Given the description of an element on the screen output the (x, y) to click on. 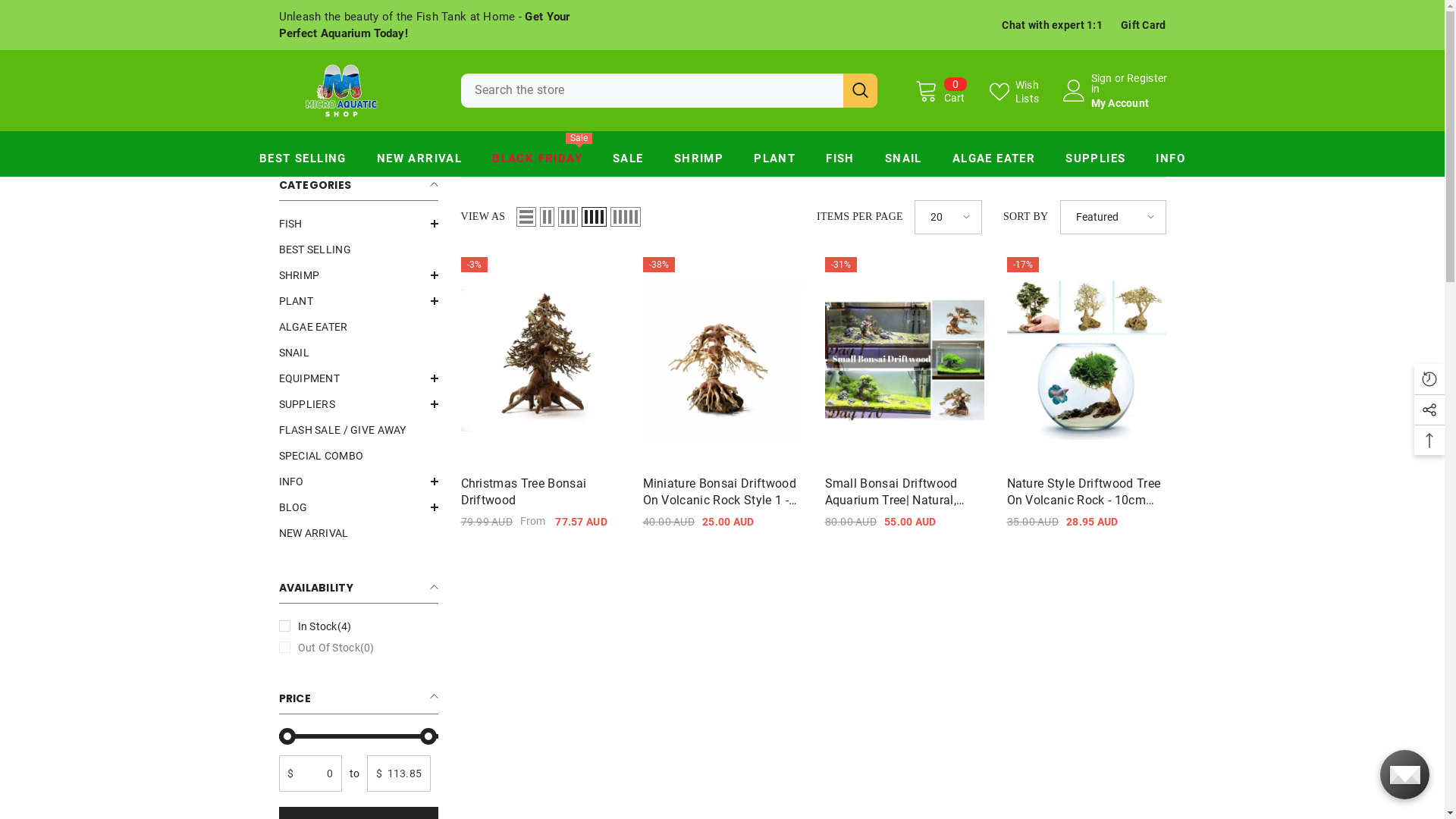
Christmas Tree Bonsai Driftwood Element type: text (540, 491)
SHRIMP Element type: text (299, 275)
FISH Element type: text (290, 223)
Christmas Tree Bonsai Driftwood Element type: hover (540, 359)
BEST SELLING Element type: text (302, 161)
SHRIMP Element type: text (698, 161)
NEW ARRIVAL Element type: text (313, 533)
Chat with expert 1:1 Element type: text (1051, 24)
Wish Lists Element type: text (1023, 90)
FLASH SALE / GIVE AWAY Element type: text (342, 429)
NEW ARRIVAL Element type: text (418, 161)
SPECIAL COMBO Element type: text (321, 455)
Get Your Perfect Aquarium Today! Element type: text (424, 24)
BLACK FRIDAY
Sale Element type: text (536, 161)
Nature Style Driftwood Tree On Volcanic Rock - 10cm Tall Element type: text (1086, 491)
PLANT Element type: text (296, 300)
ALGAE EATER Element type: text (993, 161)
BLOG Element type: text (293, 507)
SUPPLIERS Element type: text (307, 404)
INFO Element type: text (1170, 161)
SNAIL Element type: text (903, 161)
PLANT Element type: text (774, 161)
Gift Card Element type: text (1143, 24)
Sign in Element type: text (1100, 83)
EQUIPMENT Element type: text (309, 378)
FISH Element type: text (839, 161)
Nature style Driftwood tree on Volcanic Rock -  10cm Tall Element type: hover (1086, 359)
INFO Element type: text (291, 481)
SNAIL Element type: text (294, 352)
0
0 items
Cart Element type: text (940, 90)
BEST SELLING Element type: text (315, 249)
Register Element type: text (1146, 83)
SUPPLIES Element type: text (1095, 161)
ALGAE EATER Element type: text (313, 326)
SALE Element type: text (627, 161)
